Given the description of an element on the screen output the (x, y) to click on. 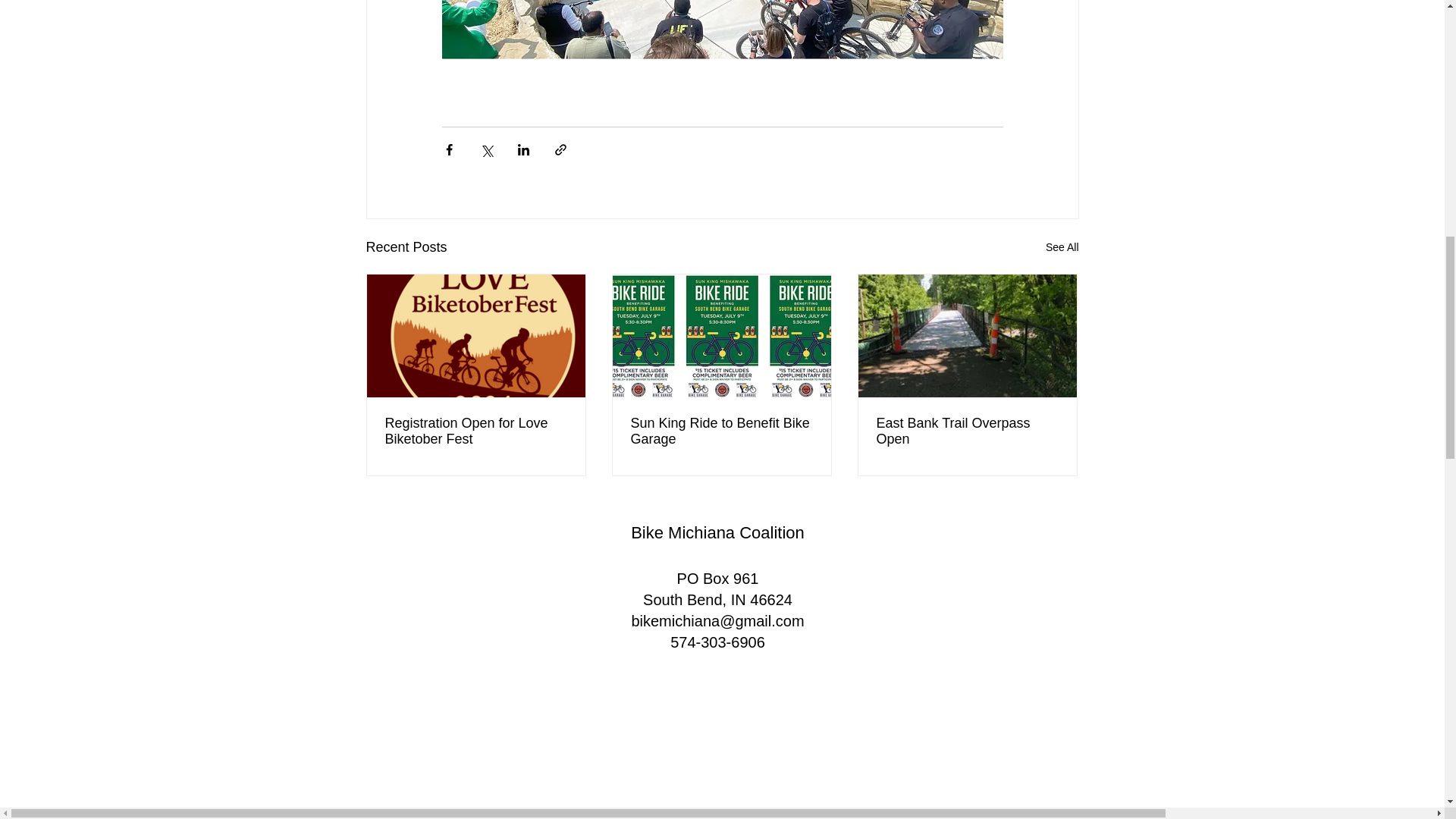
Sun King Ride to Benefit Bike Garage (721, 431)
Registration Open for Love Biketober Fest (476, 431)
See All (1061, 247)
East Bank Trail Overpass Open (967, 431)
Bike Michiana Coalition (717, 532)
